Given the description of an element on the screen output the (x, y) to click on. 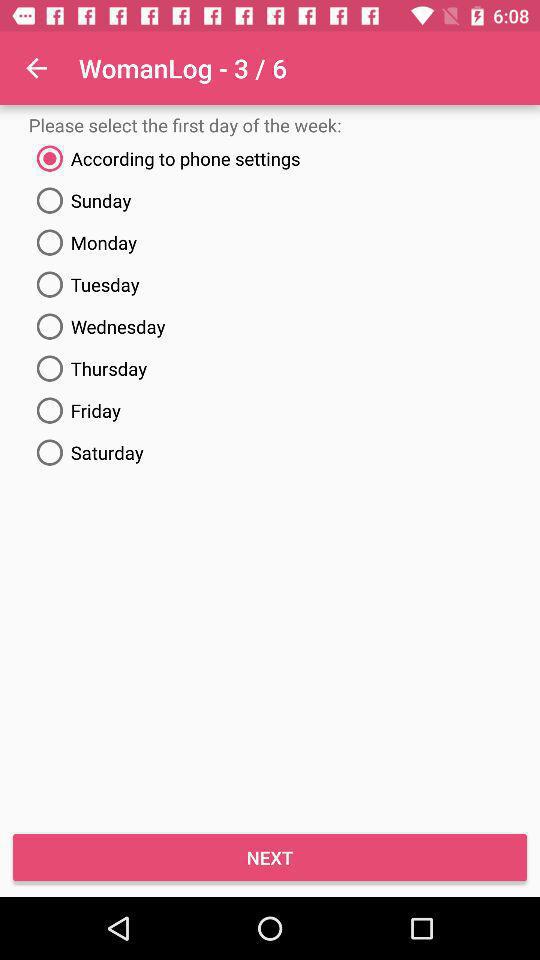
scroll until according to phone item (269, 158)
